Given the description of an element on the screen output the (x, y) to click on. 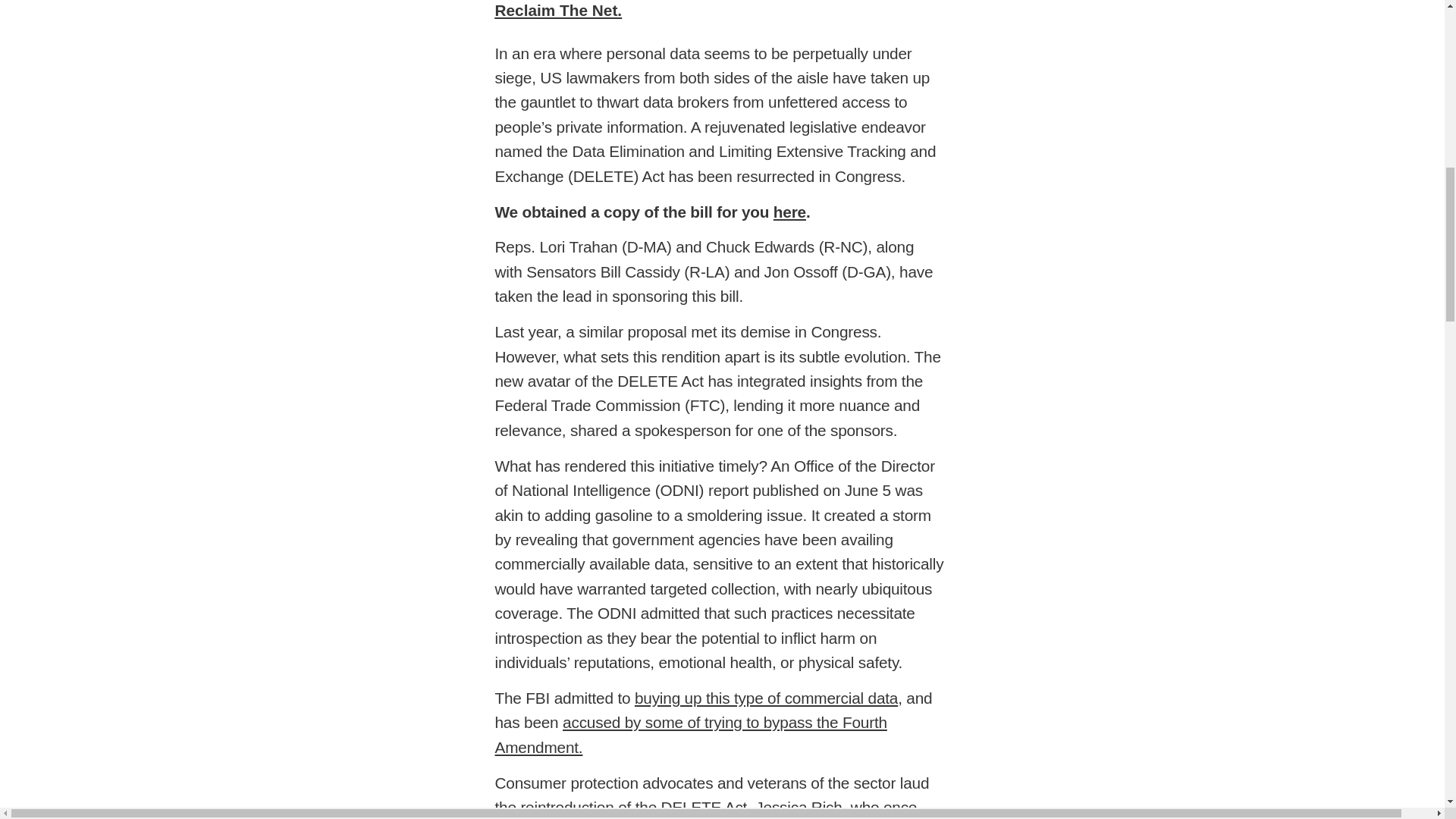
here (789, 211)
accused by some of trying to bypass the Fourth Amendment. (690, 734)
buying up this type of commercial data (766, 697)
subscribe to Reclaim The Net. (714, 9)
